Given the description of an element on the screen output the (x, y) to click on. 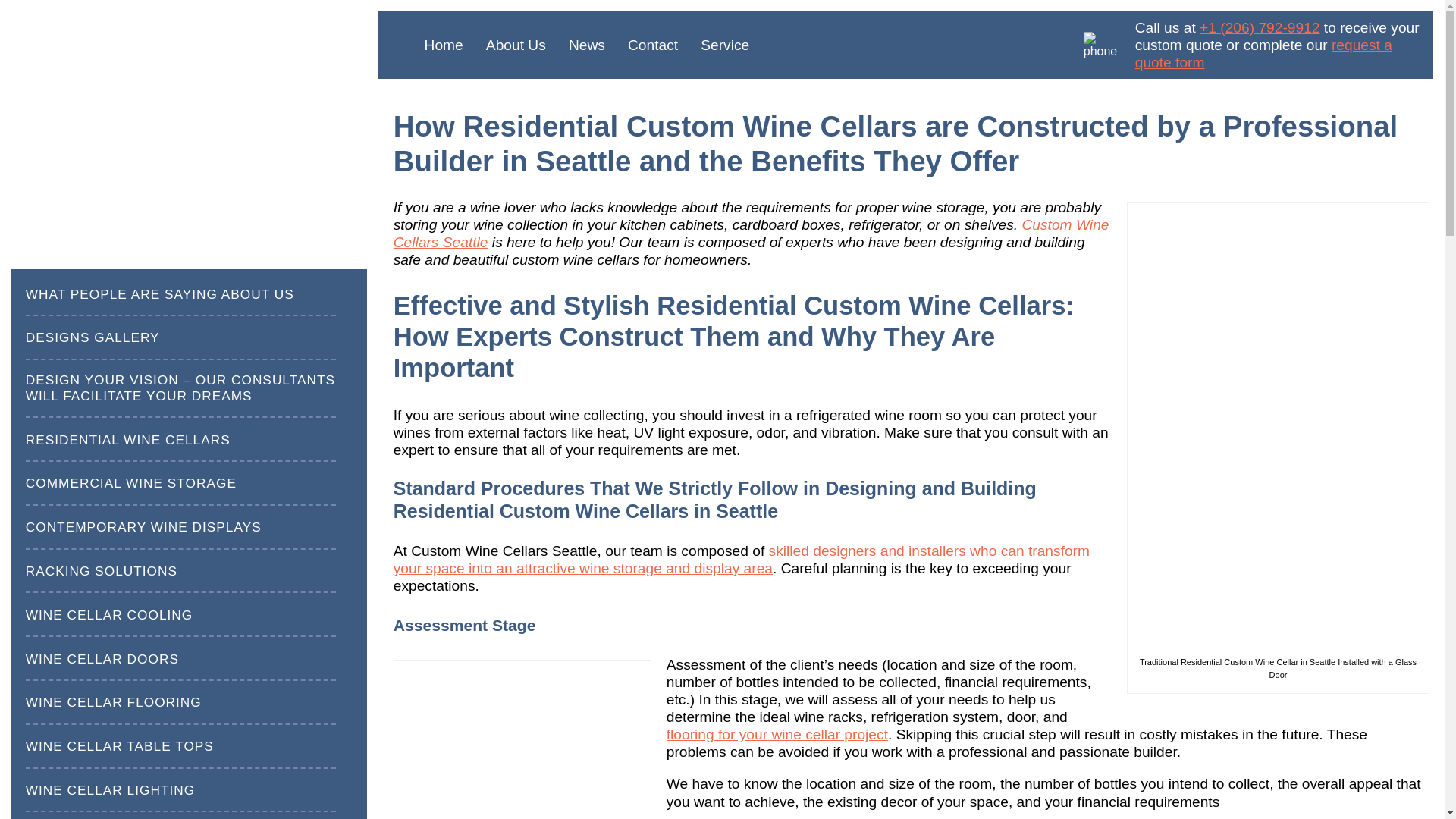
COMMERCIAL WINE STORAGE (130, 483)
WHAT PEOPLE ARE SAYING ABOUT US (160, 294)
CONTEMPORARY WINE DISPLAYS (144, 527)
DESIGNS GALLERY (93, 337)
WINE CELLAR DOORS (102, 659)
RESIDENTIAL WINE CELLARS (128, 439)
WINE CELLAR COOLING (109, 615)
RACKING SOLUTIONS (101, 571)
